Given the description of an element on the screen output the (x, y) to click on. 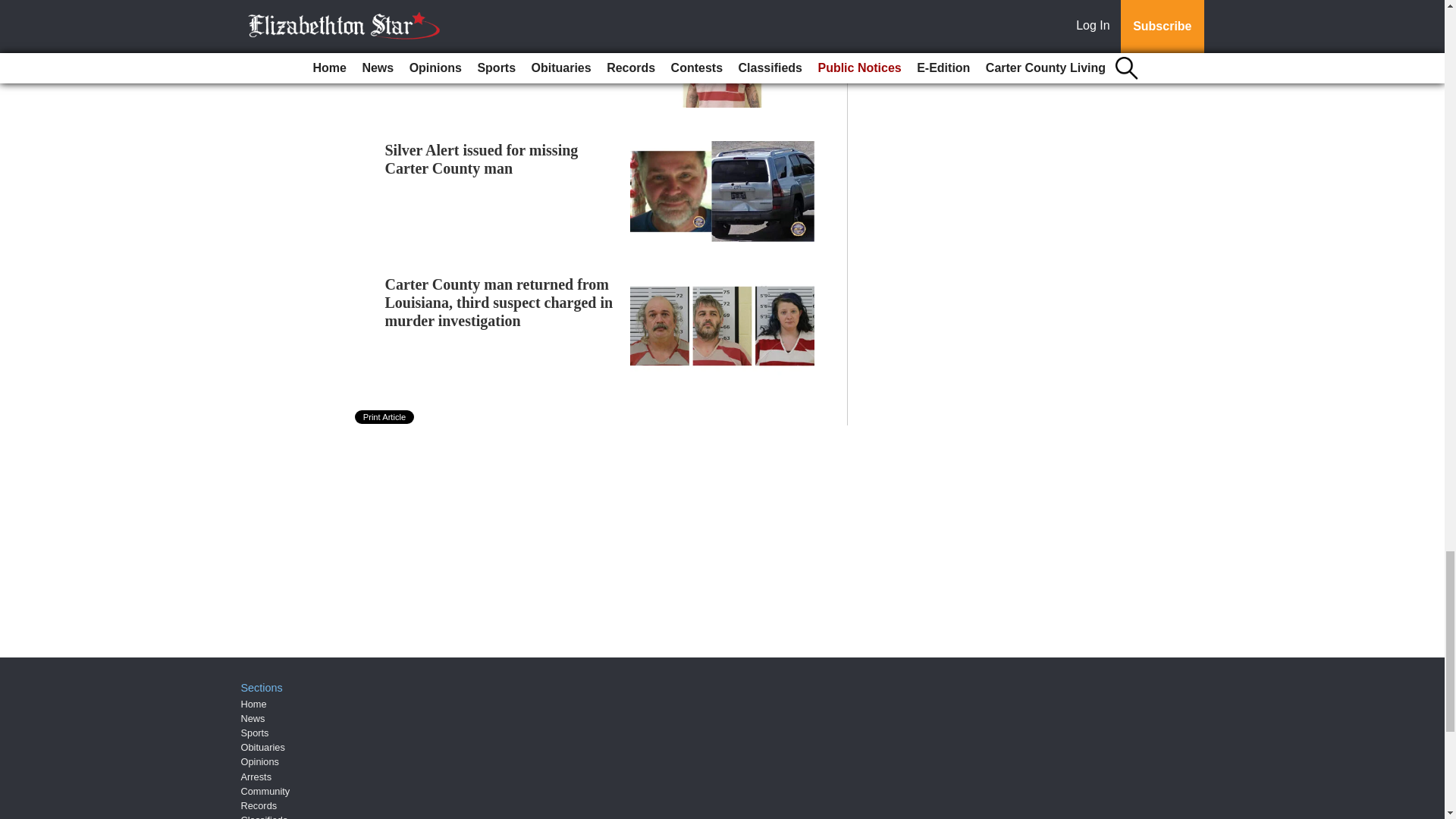
Silver Alert issued for missing Carter County man (481, 158)
Print Article (384, 417)
Silver Alert issued for missing Carter County man (481, 158)
